Given the description of an element on the screen output the (x, y) to click on. 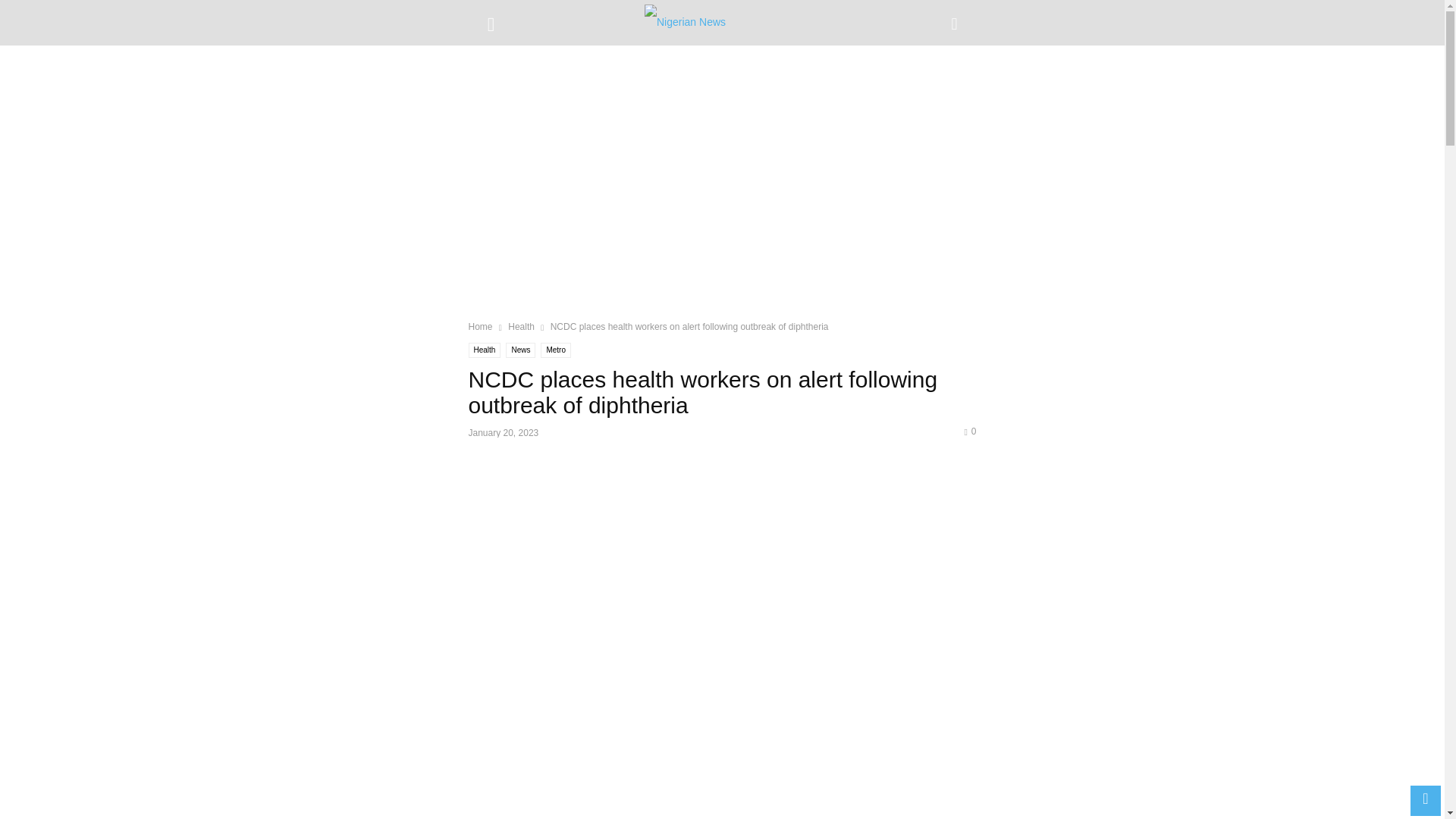
News360 Info (722, 22)
View all posts in Health (521, 326)
Health (521, 326)
0 (969, 430)
Metro (555, 350)
News (520, 350)
Health (484, 350)
Home (480, 326)
